Given the description of an element on the screen output the (x, y) to click on. 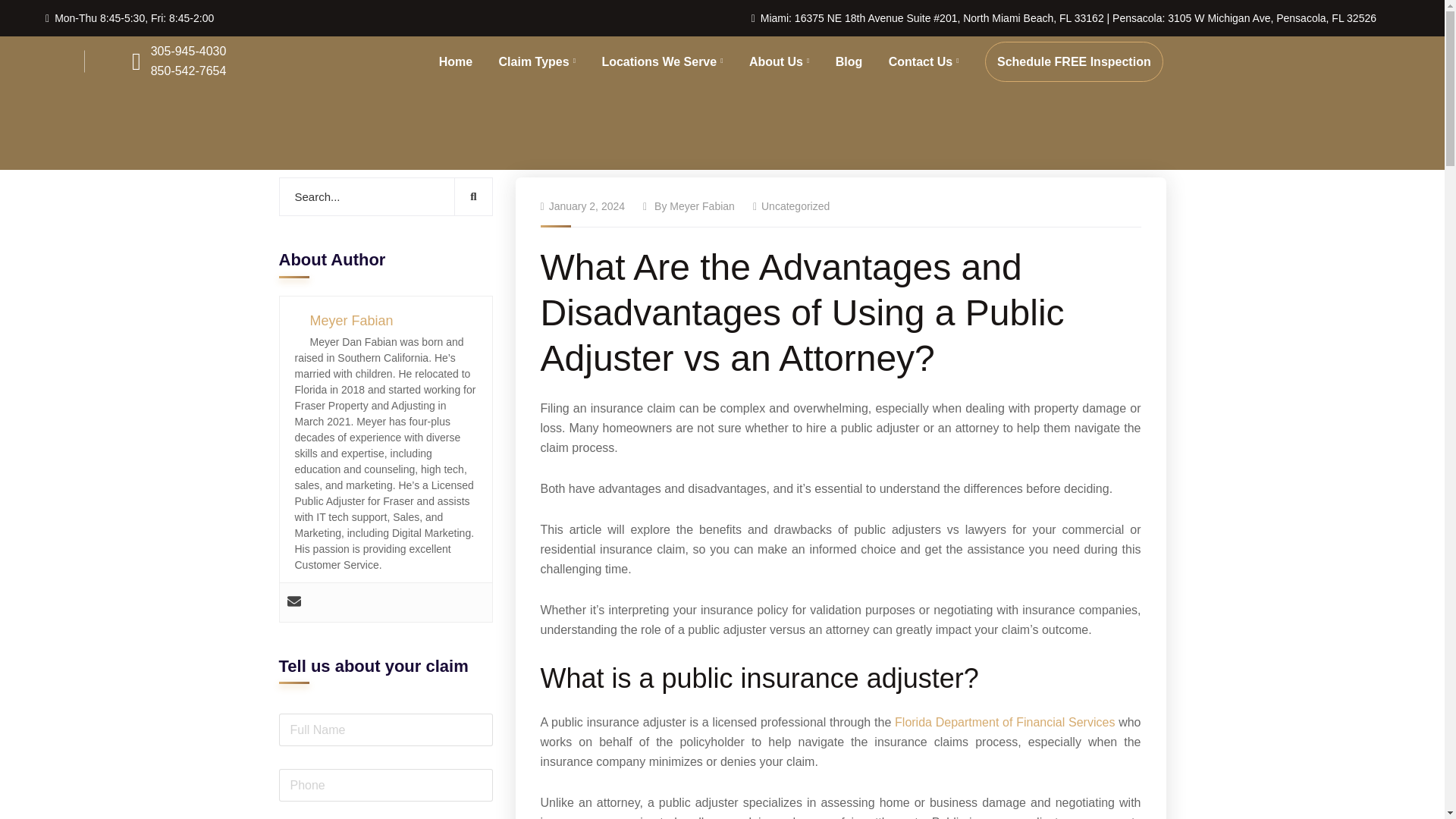
305-945-4030 (189, 51)
850-542-7654 (189, 71)
Posts by Meyer Fabian (702, 205)
Claim Types (537, 61)
Locations We Serve (661, 61)
